Given the description of an element on the screen output the (x, y) to click on. 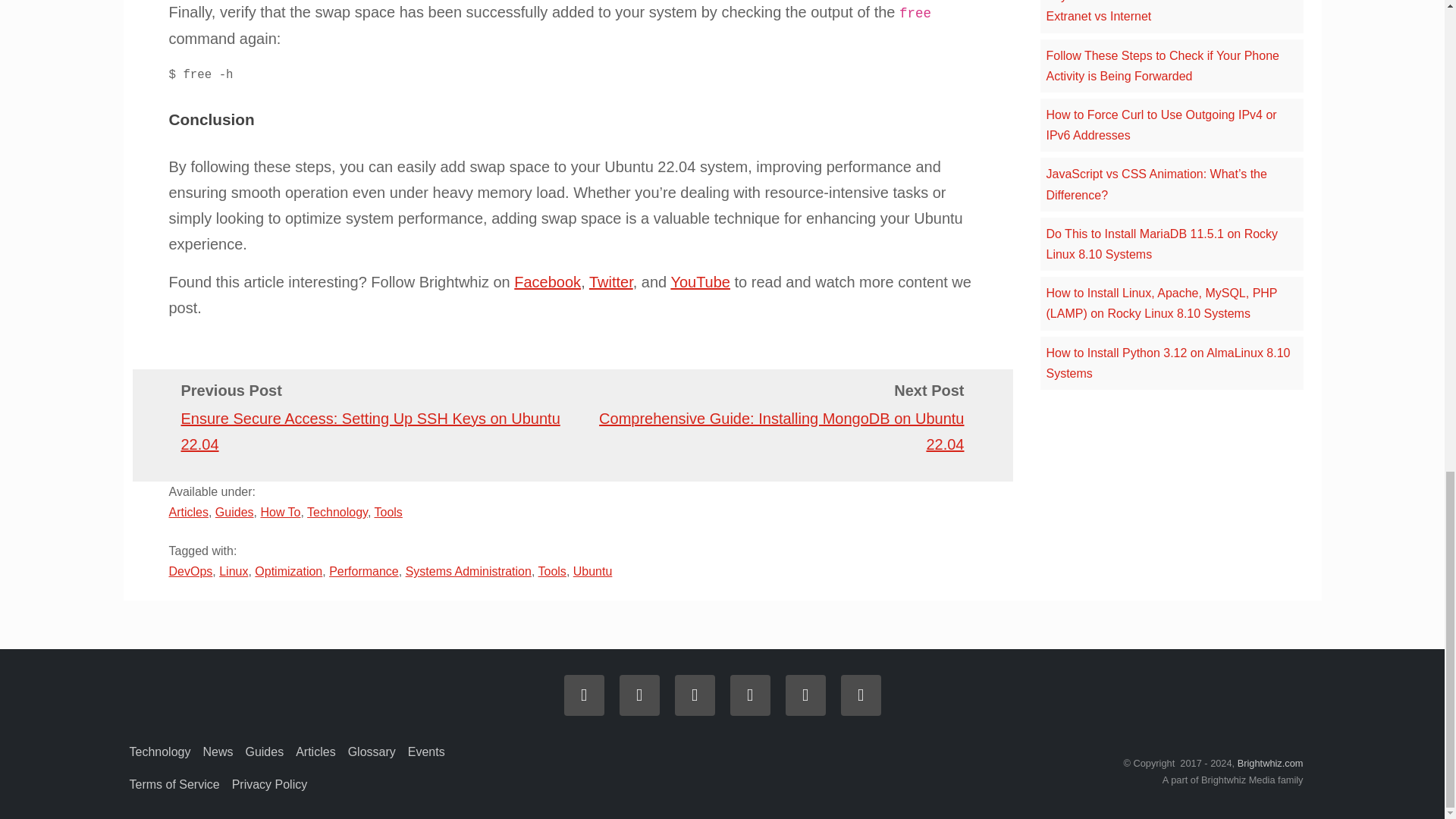
Guides (234, 512)
Twitter (611, 281)
Tools (387, 512)
Performance (363, 571)
How To (279, 512)
Facebook (546, 281)
Linux (233, 571)
Tools (552, 571)
Systems Administration (468, 571)
Optimization (287, 571)
Ensure Secure Access: Setting Up SSH Keys on Ubuntu 22.04 (369, 431)
YouTube (699, 281)
Articles (188, 512)
Technology (337, 512)
Ubuntu (592, 571)
